Given the description of an element on the screen output the (x, y) to click on. 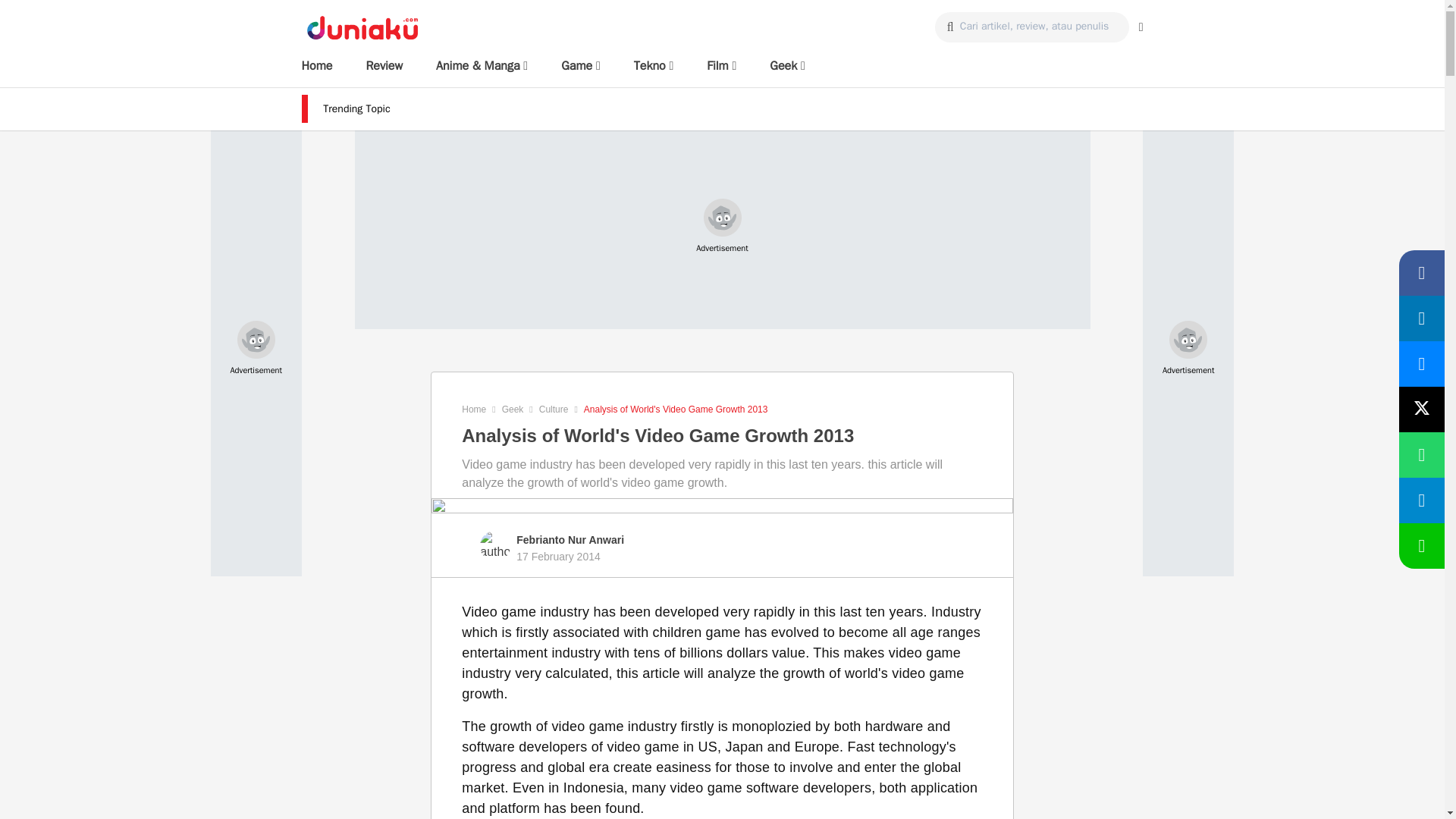
Film (721, 65)
Geek (787, 65)
Home (317, 65)
Game (579, 65)
Home (473, 409)
Febrianto Nur Anwari (570, 539)
Culture (553, 409)
Tekno (653, 65)
Geek (513, 409)
Review (384, 65)
